Given the description of an element on the screen output the (x, y) to click on. 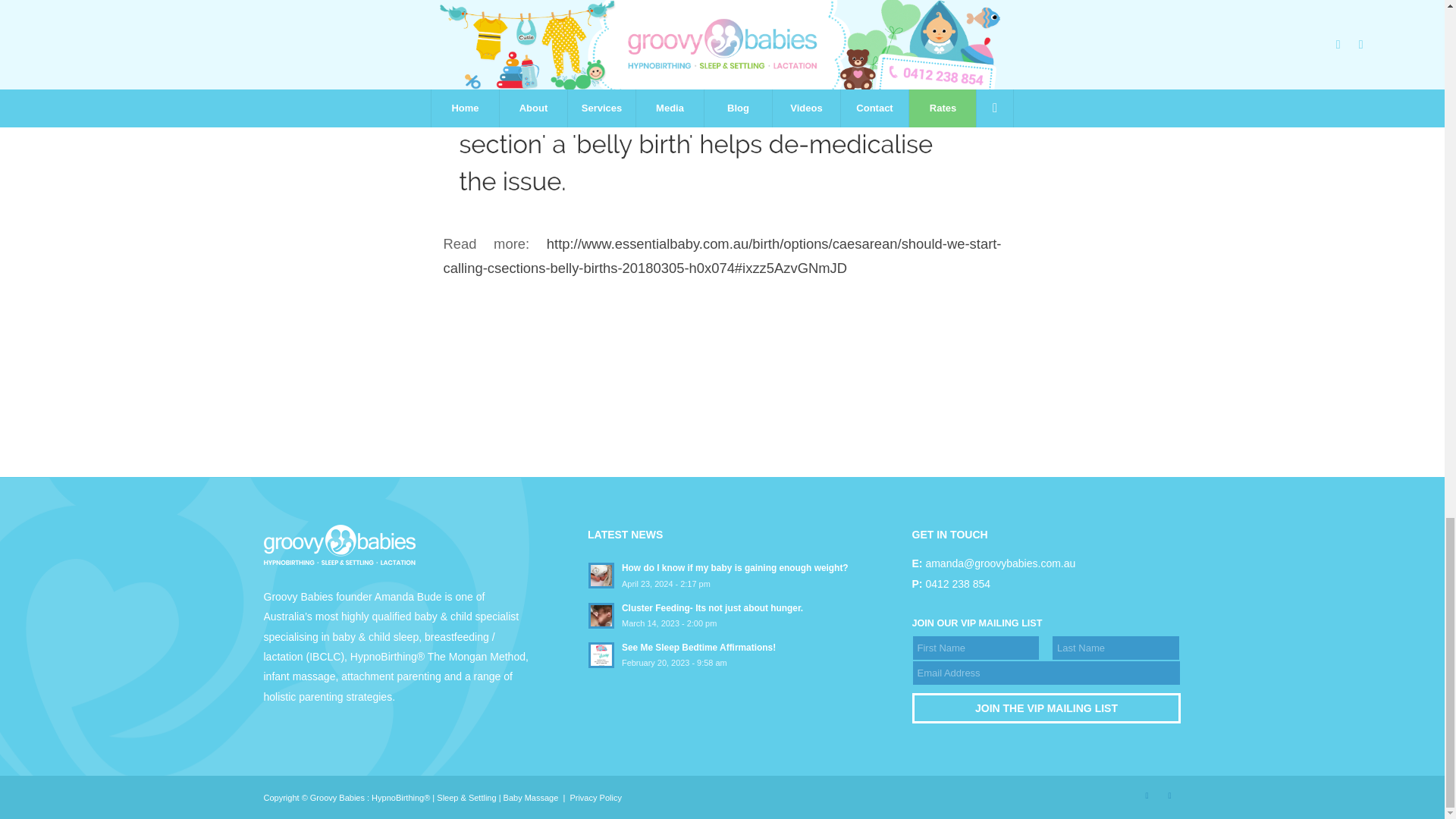
How do I know if my baby is gaining enough weight? (722, 574)
Instagram (1169, 794)
JOIN THE VIP MAILING LIST (1046, 707)
See Me Sleep Bedtime Affirmations! (722, 654)
Facebook (1146, 794)
JOIN THE VIP MAILING LIST (1046, 707)
Baby Massage (531, 797)
Cluster Feeding- Its not just about hunger. (722, 614)
